Given the description of an element on the screen output the (x, y) to click on. 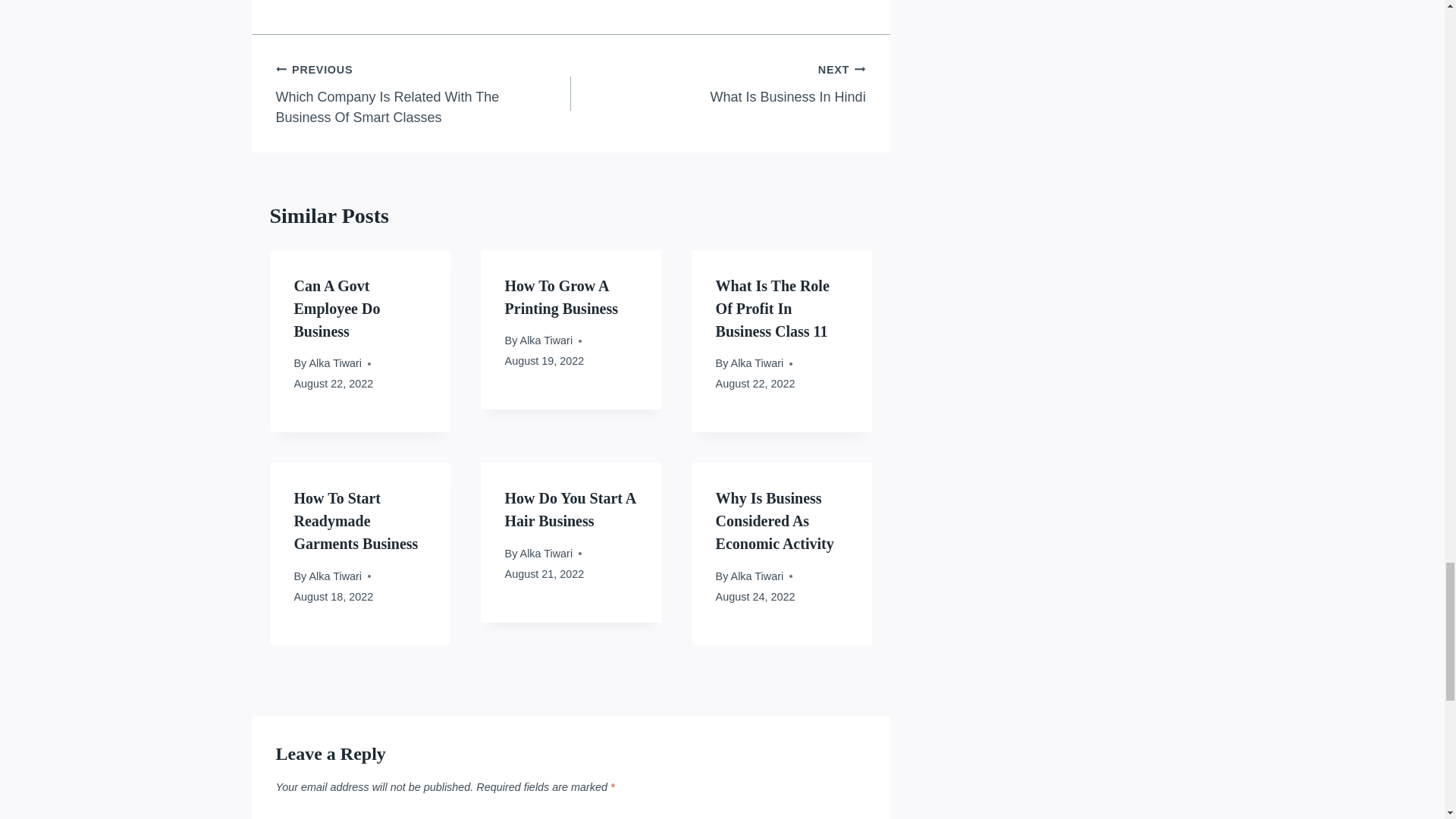
Alka Tiwari (334, 576)
Alka Tiwari (546, 340)
Alka Tiwari (546, 553)
How To Start Readymade Garments Business (356, 520)
Alka Tiwari (718, 82)
Alka Tiwari (334, 363)
Can A Govt Employee Do Business (757, 363)
How Do You Start A Hair Business (337, 308)
What Is The Role Of Profit In Business Class 11 (570, 509)
How To Grow A Printing Business (772, 308)
